Given the description of an element on the screen output the (x, y) to click on. 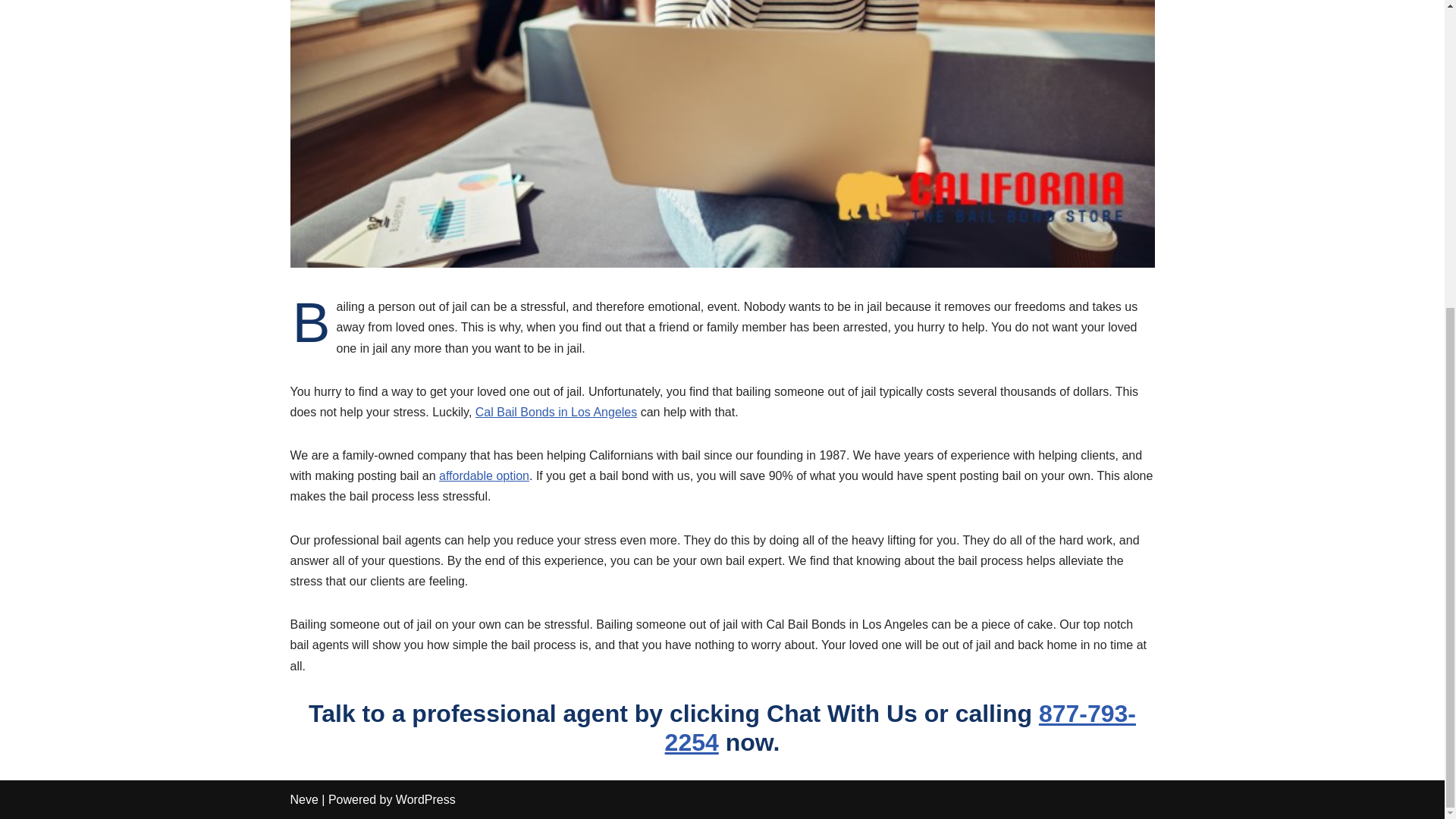
877-793-2254 (900, 727)
Cal Bail Bonds in Los Angeles (556, 411)
Neve (303, 799)
DO YOU NEED AN AFFORDABLE CALIFORNIA BAIL BONDS BUSINESS? (484, 475)
WordPress (425, 799)
Cal Bail Bonds in Los Angeles (900, 727)
affordable option (484, 475)
Cal Bail Bonds in Los Angeles (556, 411)
